Given the description of an element on the screen output the (x, y) to click on. 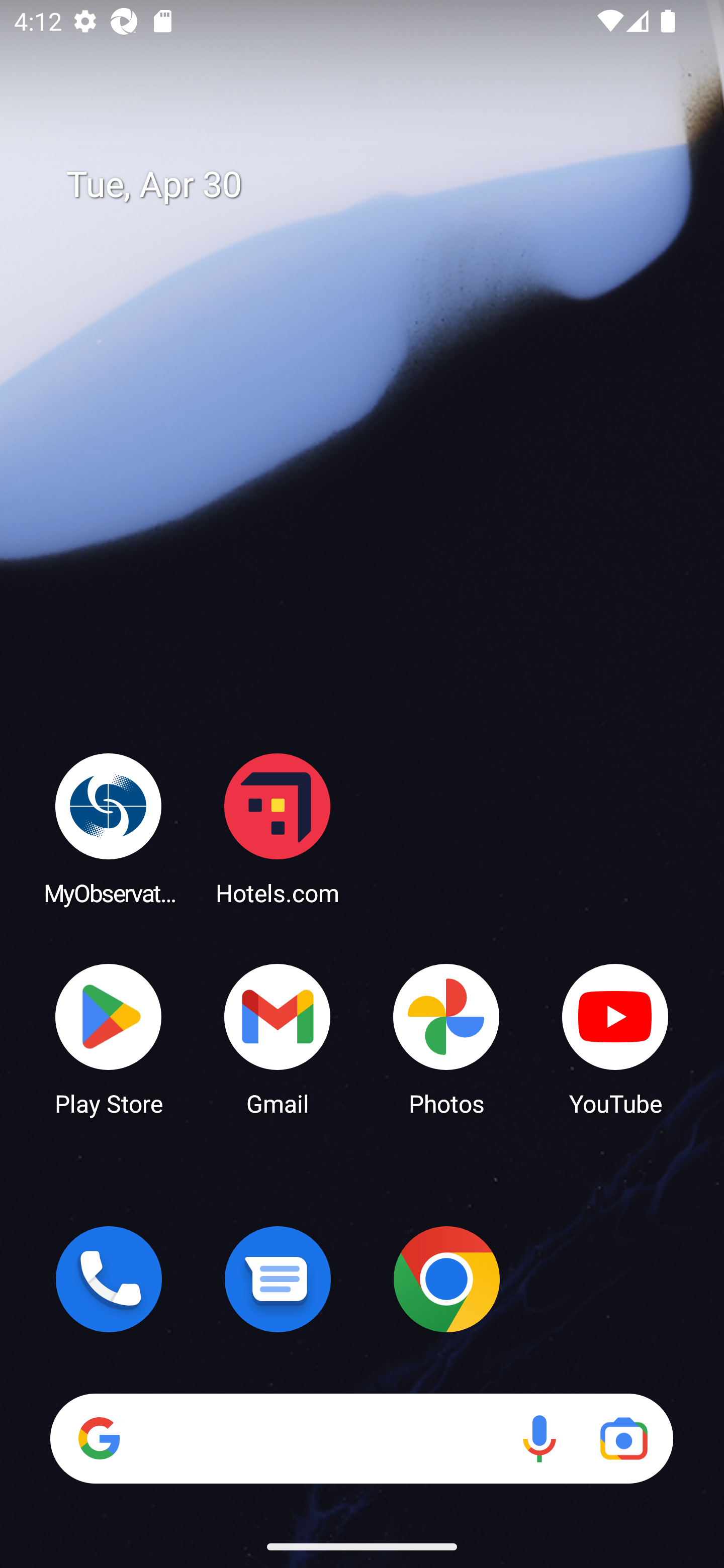
Tue, Apr 30 (375, 184)
MyObservatory (108, 828)
Hotels.com (277, 828)
Play Store (108, 1038)
Gmail (277, 1038)
Photos (445, 1038)
YouTube (615, 1038)
Phone (108, 1279)
Messages (277, 1279)
Chrome (446, 1279)
Voice search (539, 1438)
Google Lens (623, 1438)
